Given the description of an element on the screen output the (x, y) to click on. 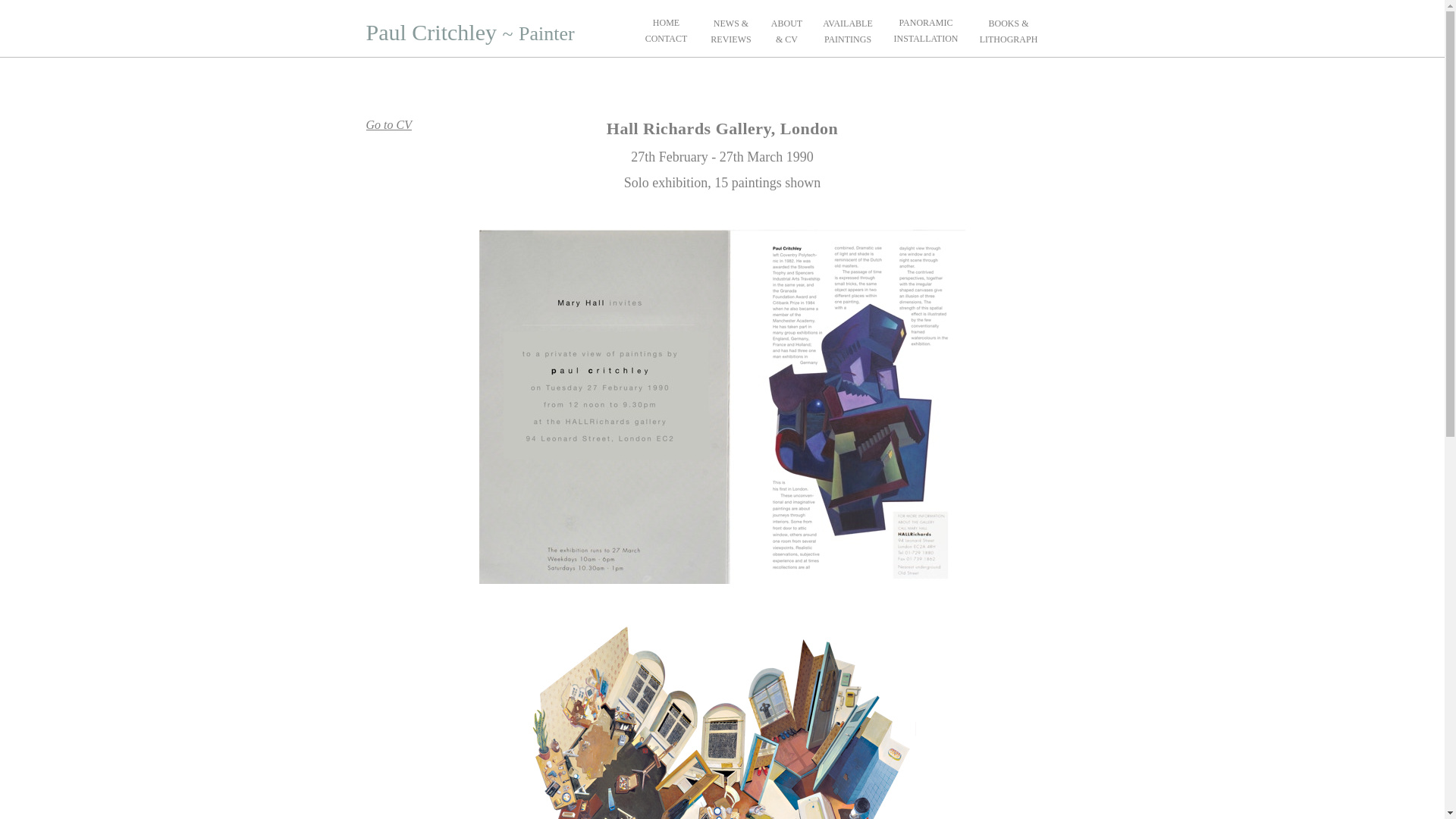
HOME (665, 22)
CONTACT (666, 38)
ABOUT (786, 23)
NEW (723, 23)
Painter (546, 33)
Go to CV (387, 124)
INSTALLATION (925, 38)
Paul Critchley (430, 32)
VAILABLE (850, 23)
REVIEWS (730, 39)
PAINTINGS (847, 39)
ANORAMIC (927, 22)
LITHOGRAPH (1008, 39)
